Given the description of an element on the screen output the (x, y) to click on. 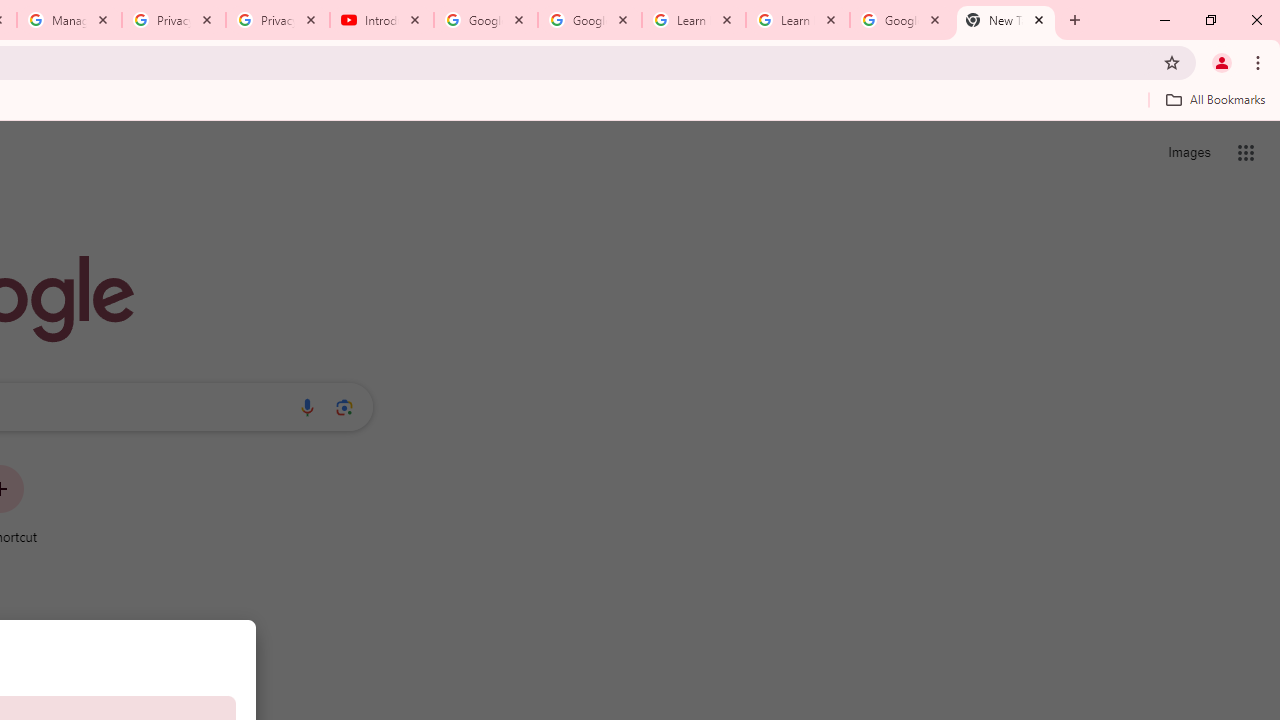
New Tab (1005, 20)
